Given the description of an element on the screen output the (x, y) to click on. 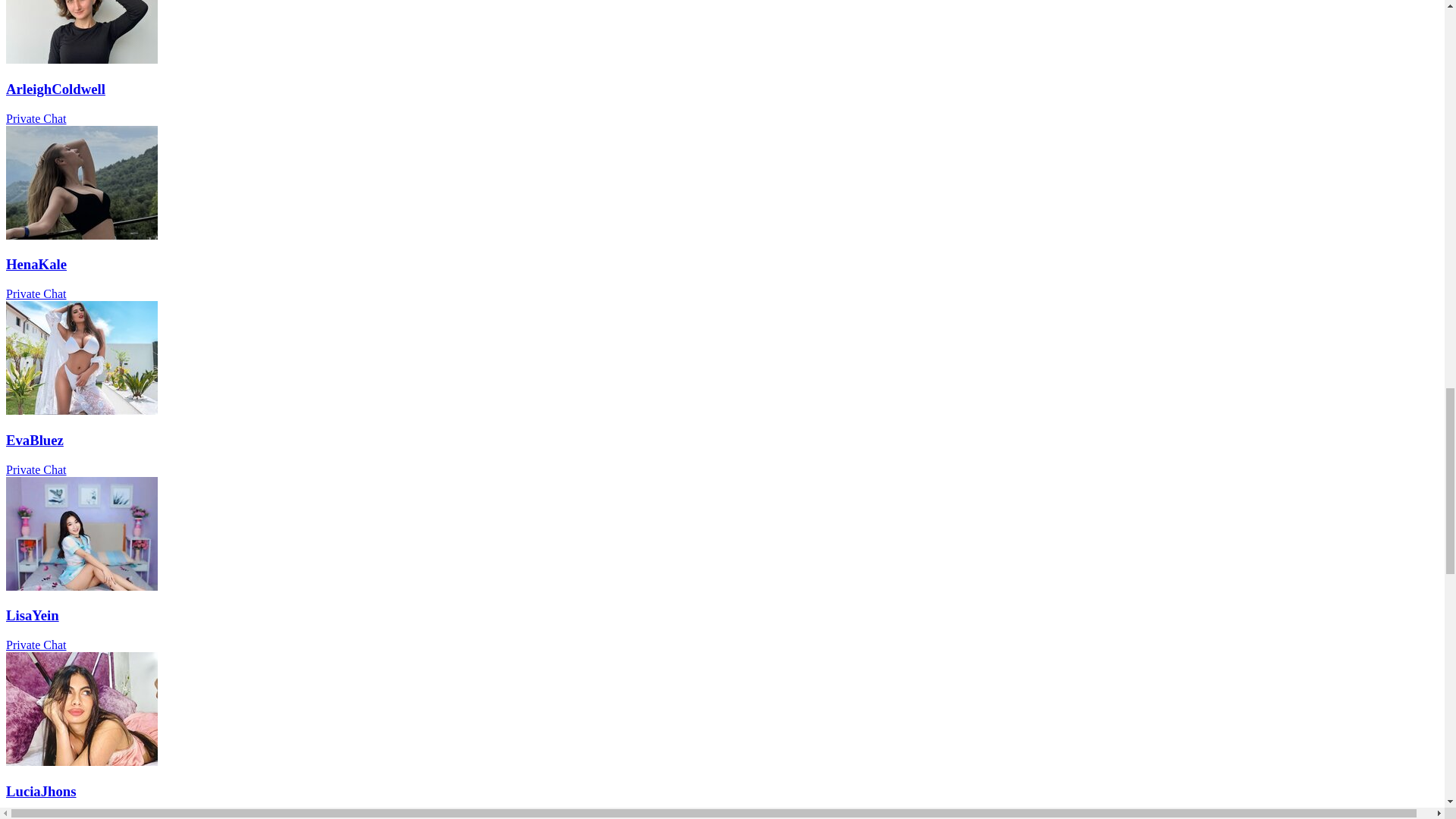
Enter Nude Sex Webcam (721, 278)
Enter Nude Sex Webcam (721, 278)
Enter Nude Sex Webcam (721, 103)
Enter Nude Sex Webcam (81, 410)
Enter Nude Sex Webcam (721, 103)
Enter Nude Sex Webcam (81, 235)
Enter Nude Sex Webcam (721, 453)
